Given the description of an element on the screen output the (x, y) to click on. 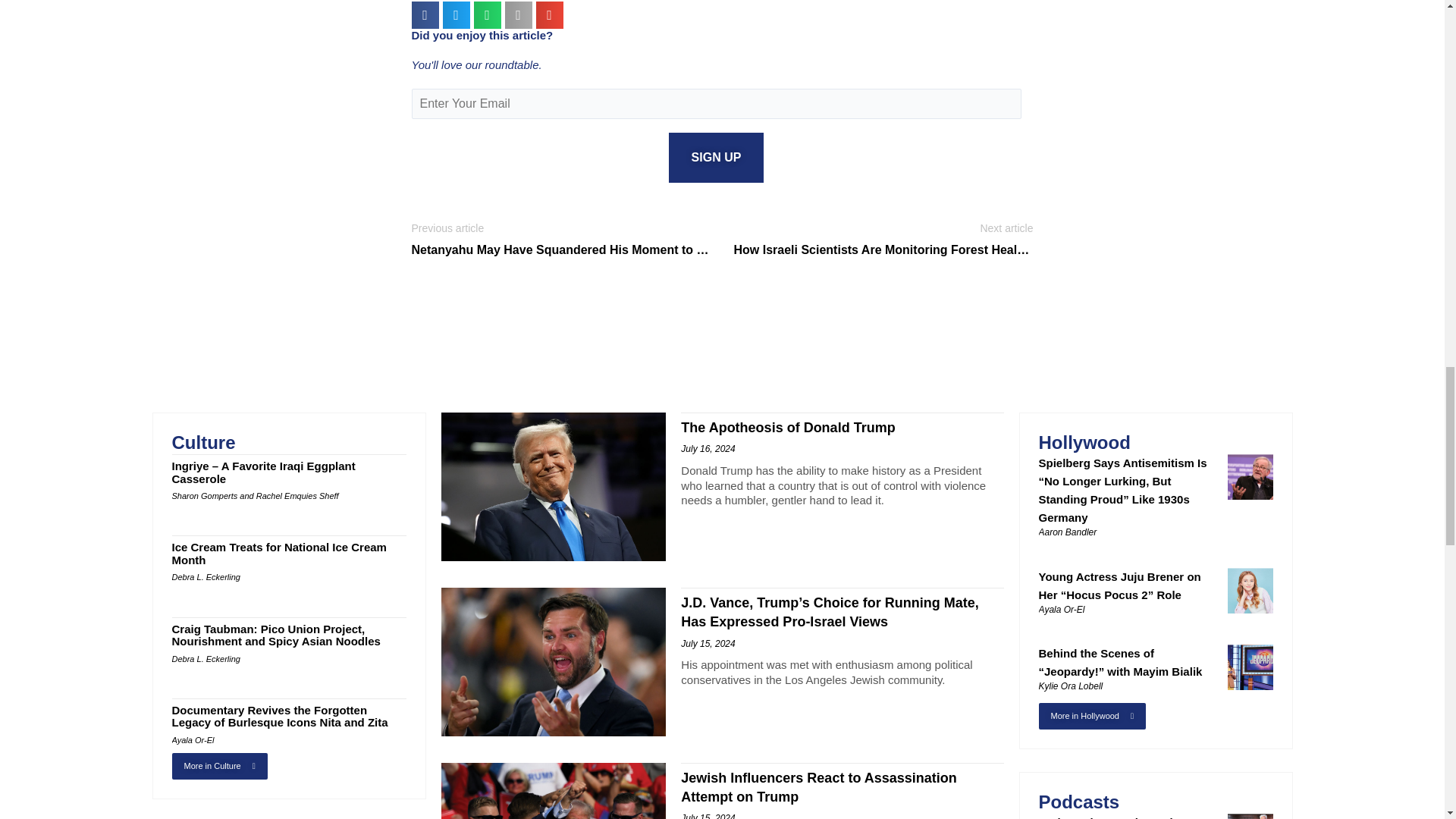
Sign Up (715, 157)
3rd party ad content (721, 321)
